Given the description of an element on the screen output the (x, y) to click on. 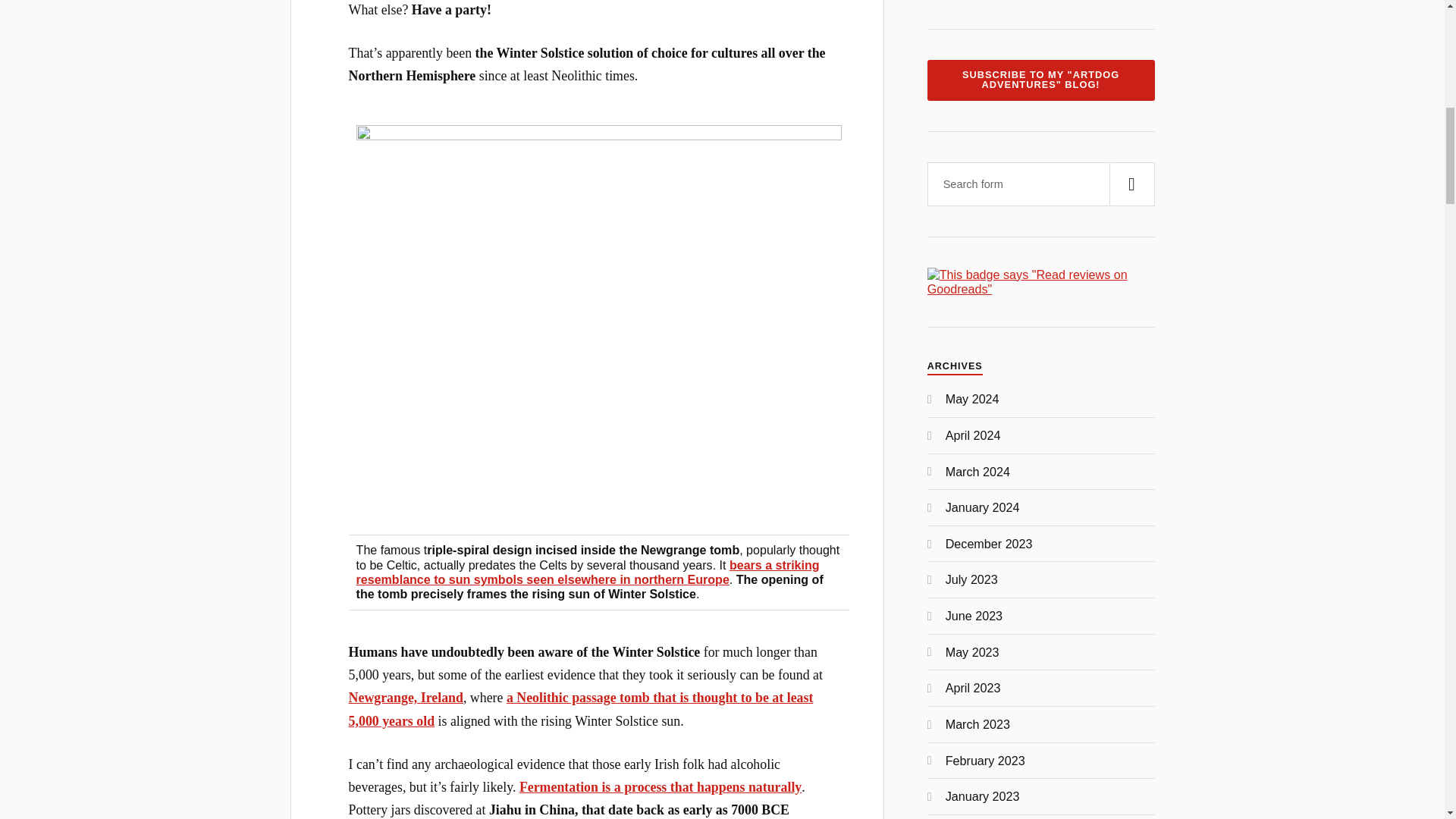
Newgrange, Ireland (406, 697)
Fermentation is a process that happens naturally (660, 786)
